Given the description of an element on the screen output the (x, y) to click on. 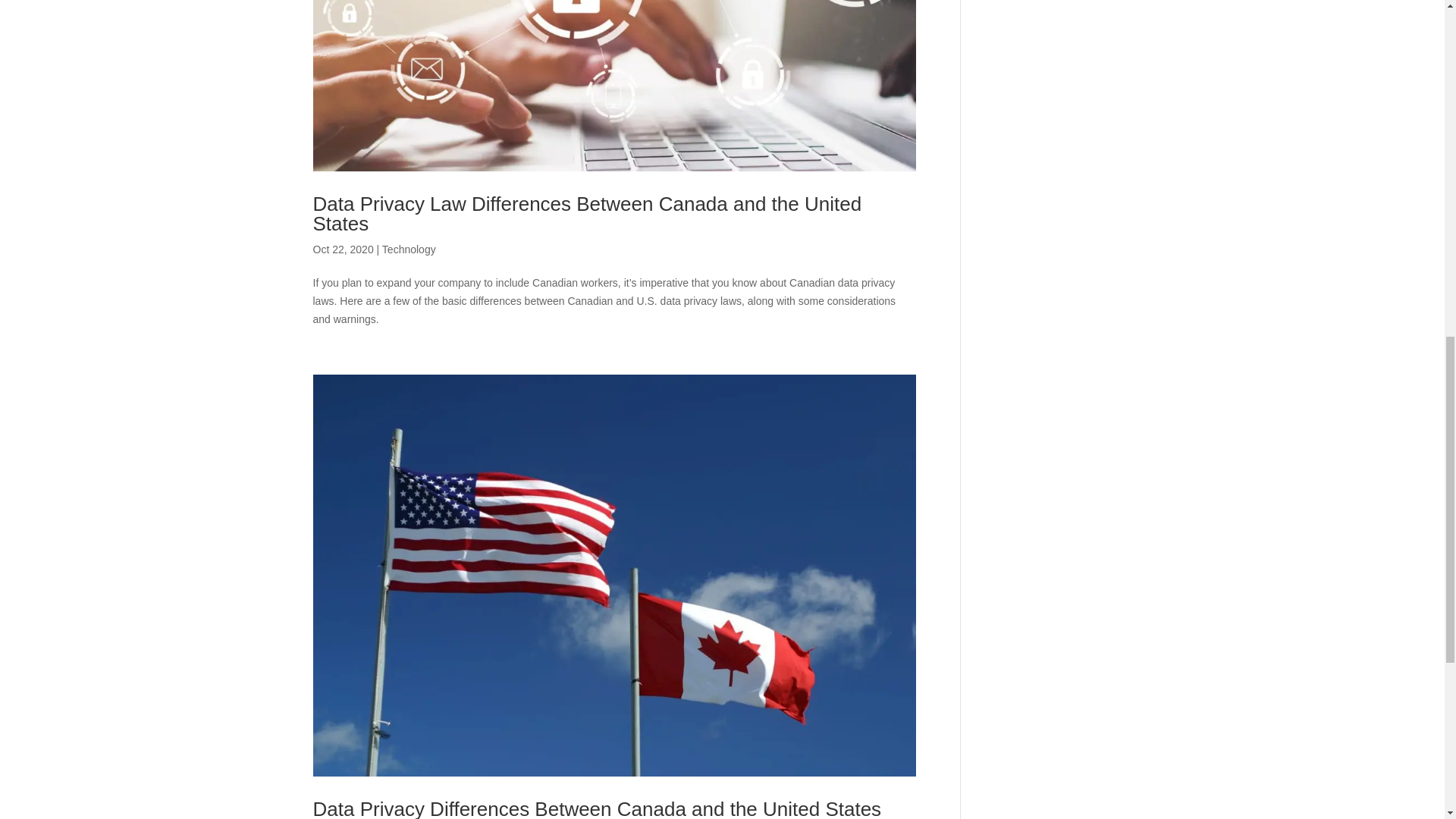
Technology (408, 249)
